Given the description of an element on the screen output the (x, y) to click on. 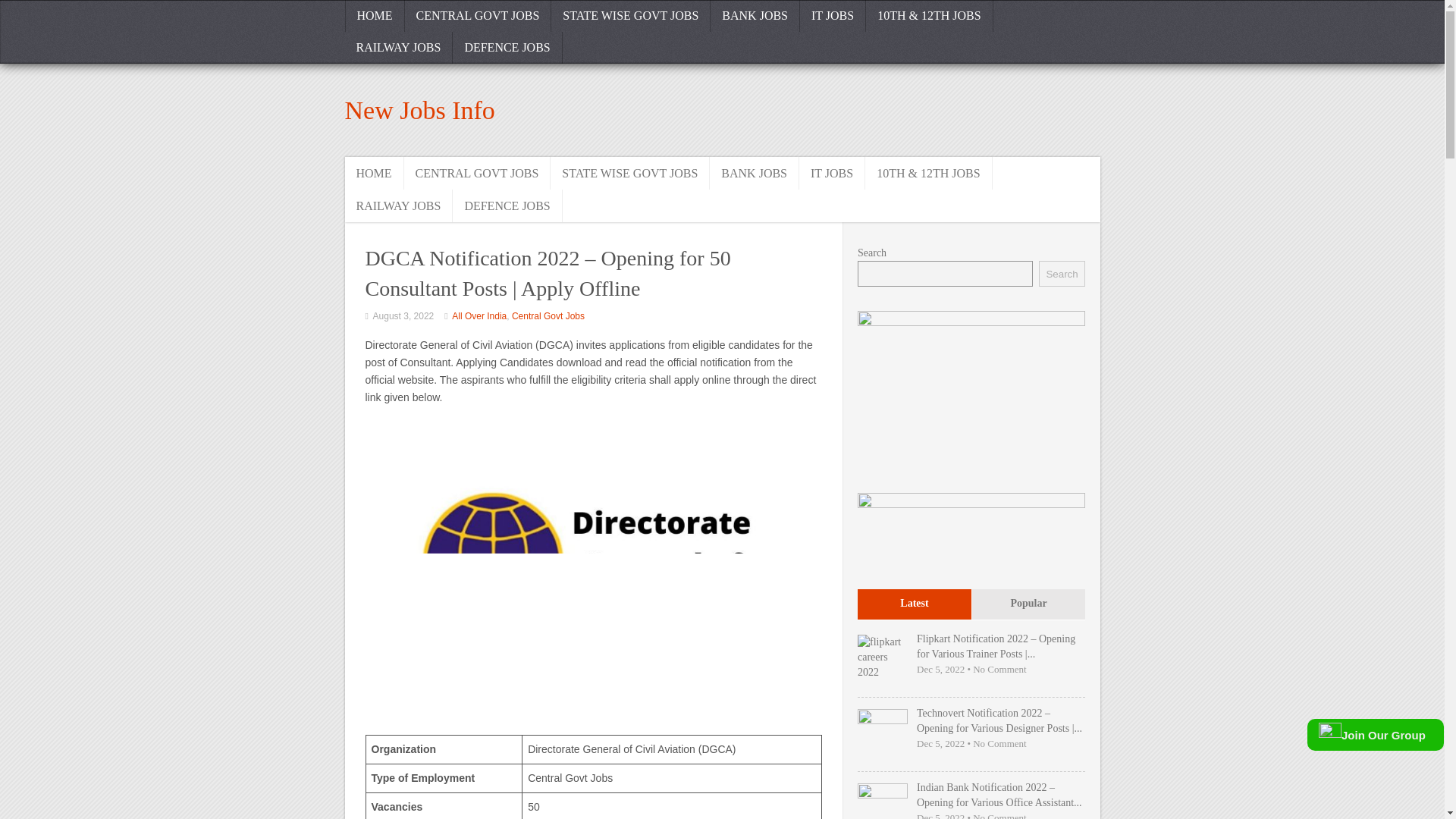
HOME (373, 173)
New Jobs Info (419, 110)
IT JOBS (832, 15)
View all posts in Central Govt Jobs (548, 316)
CENTRAL GOVT JOBS (477, 15)
Latest (914, 603)
Central Govt Jobs (548, 316)
BANK JOBS (754, 173)
HOME (373, 15)
DEFENCE JOBS (507, 47)
